Given the description of an element on the screen output the (x, y) to click on. 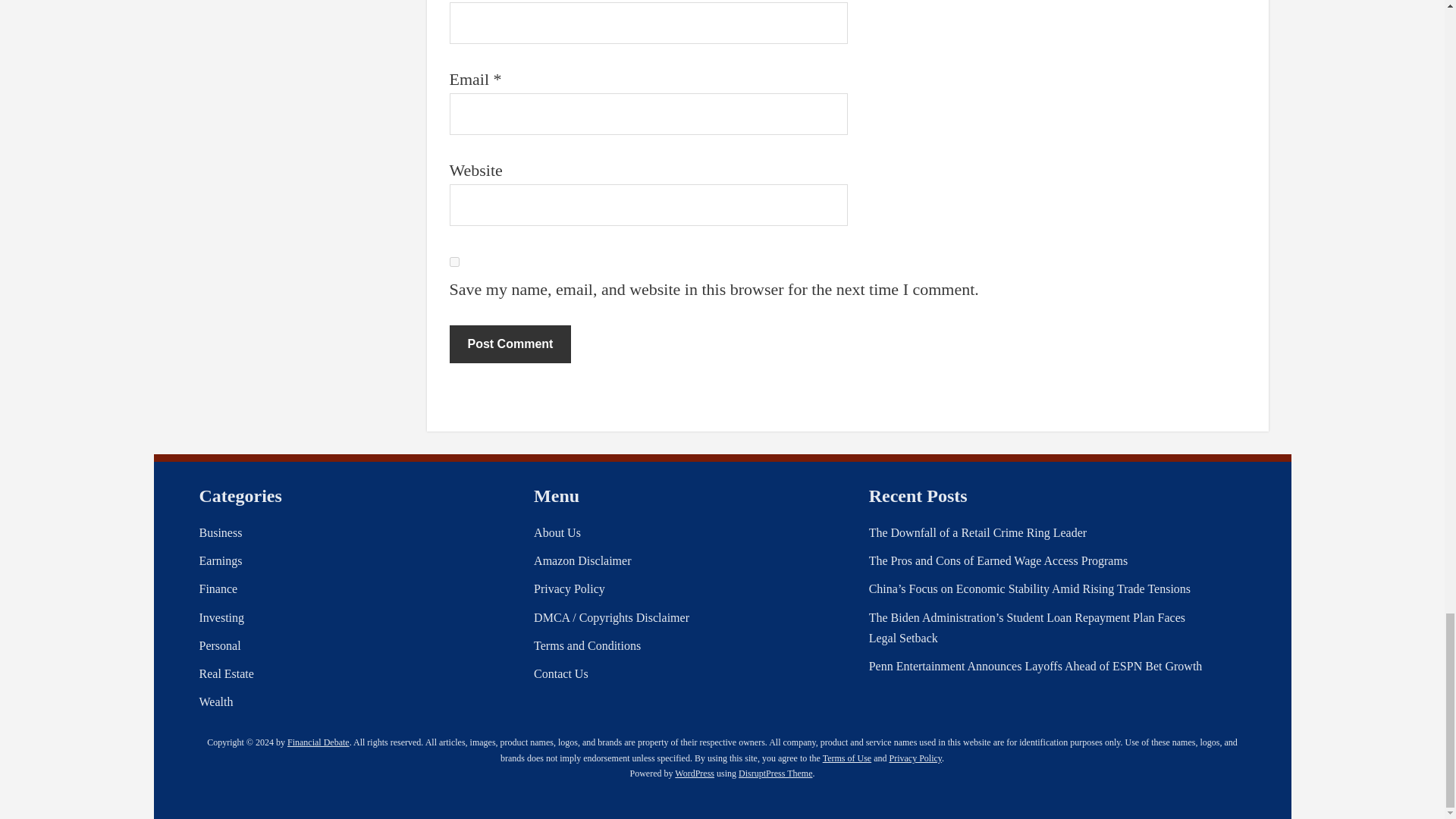
yes (453, 261)
Post Comment (509, 344)
